Given the description of an element on the screen output the (x, y) to click on. 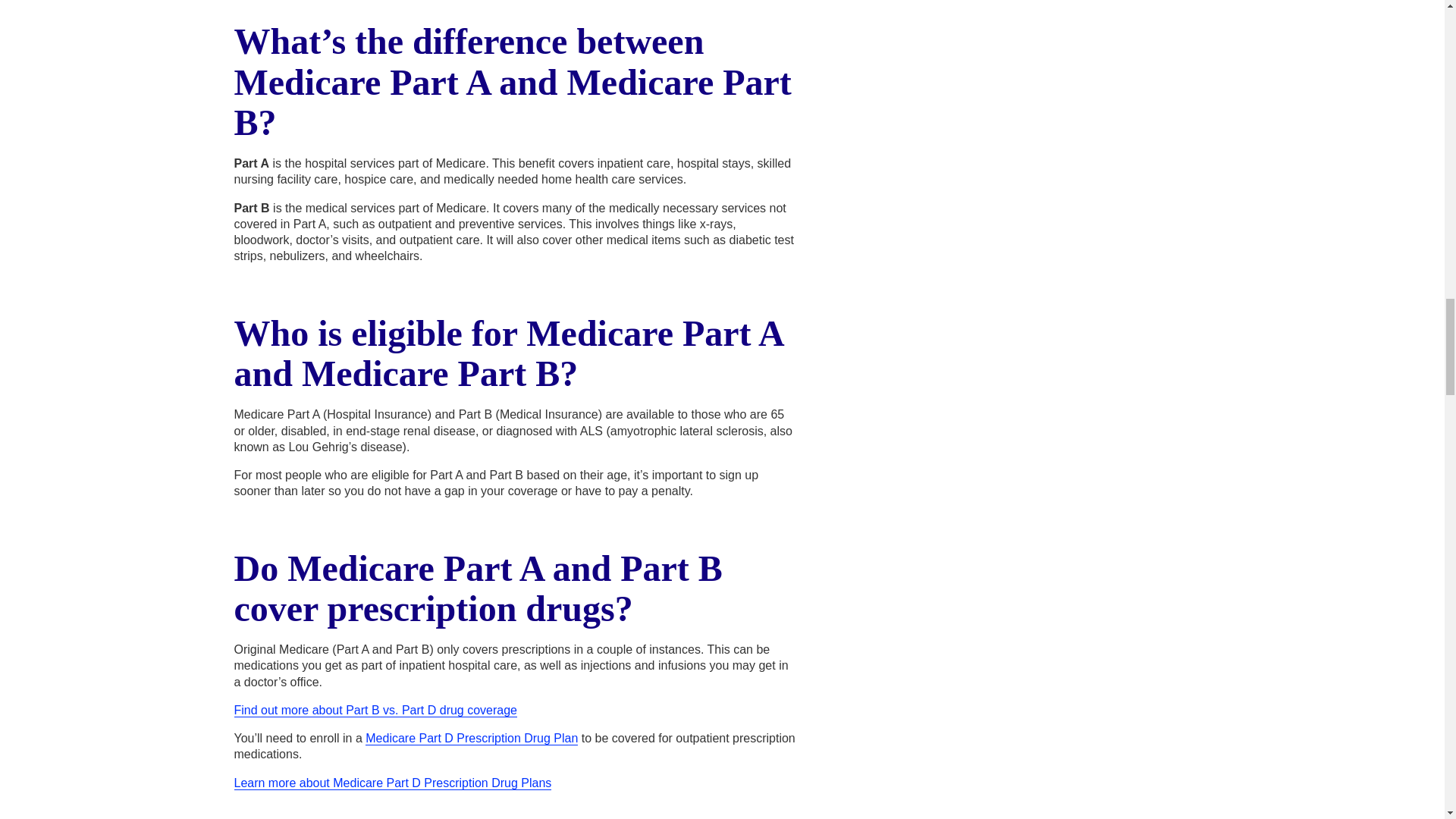
Medicare Part D Prescription Drug Plan (471, 738)
Find out more about Part B vs. Part D drug coverage (374, 710)
Learn more about Medicare Part D Prescription Drug Plans (391, 783)
